Given the description of an element on the screen output the (x, y) to click on. 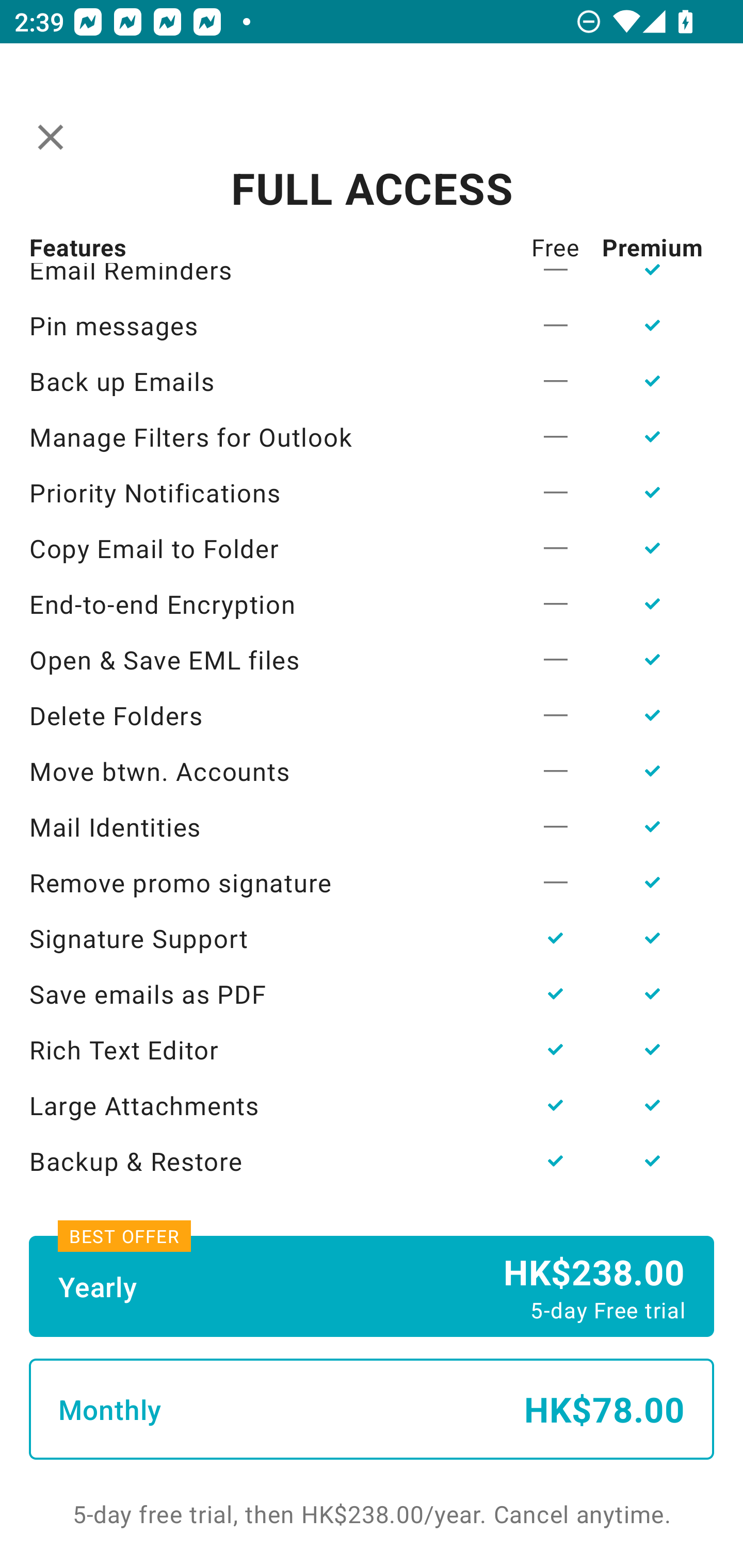
Yearly HK$238.00 5-day Free trial (371, 1286)
Monthly HK$78.00 (371, 1408)
